Given the description of an element on the screen output the (x, y) to click on. 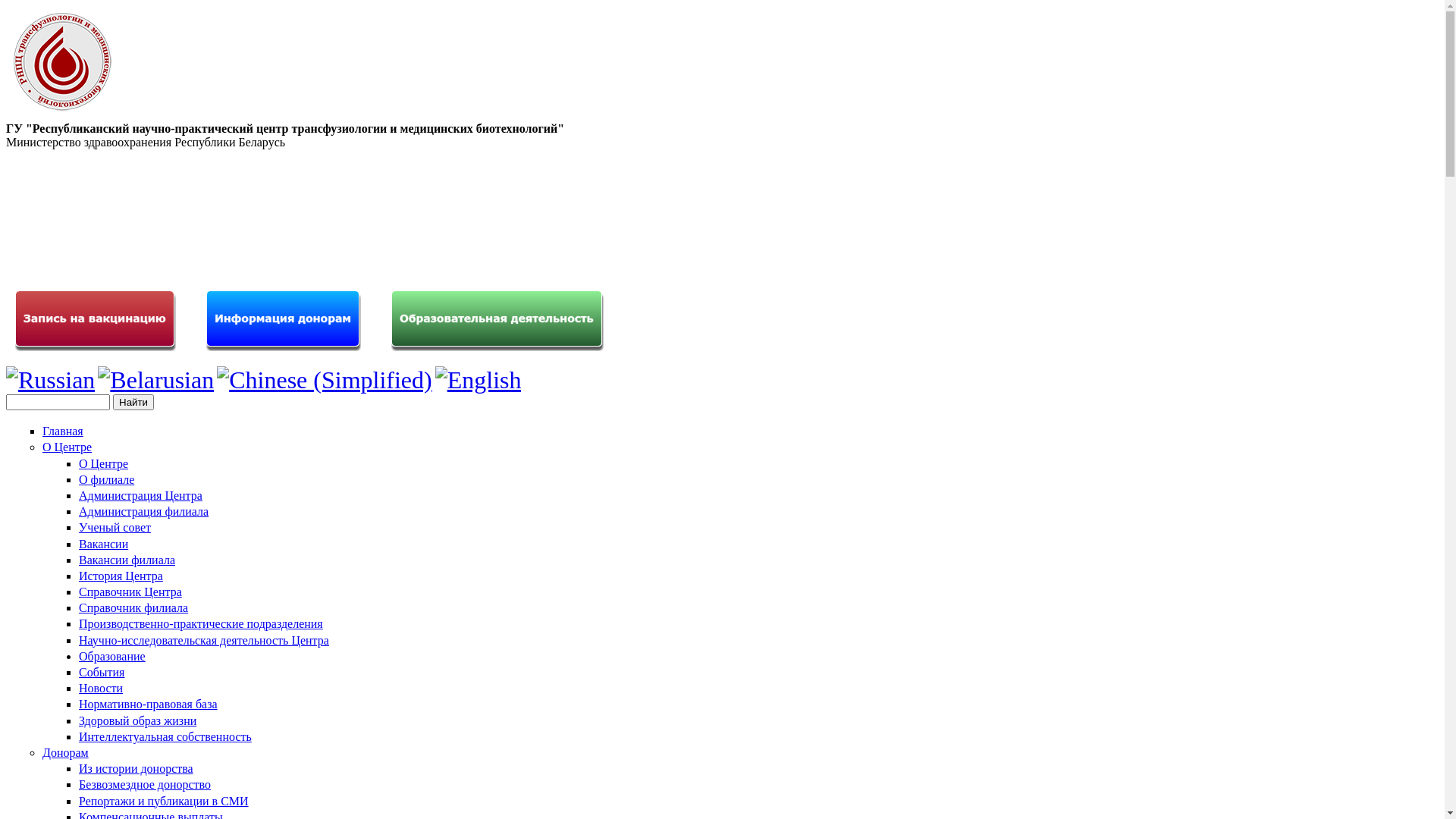
Belarusian Element type: hover (155, 379)
English Element type: hover (478, 379)
Russian Element type: hover (50, 379)
Chinese (Simplified) Element type: hover (324, 379)
